Given the description of an element on the screen output the (x, y) to click on. 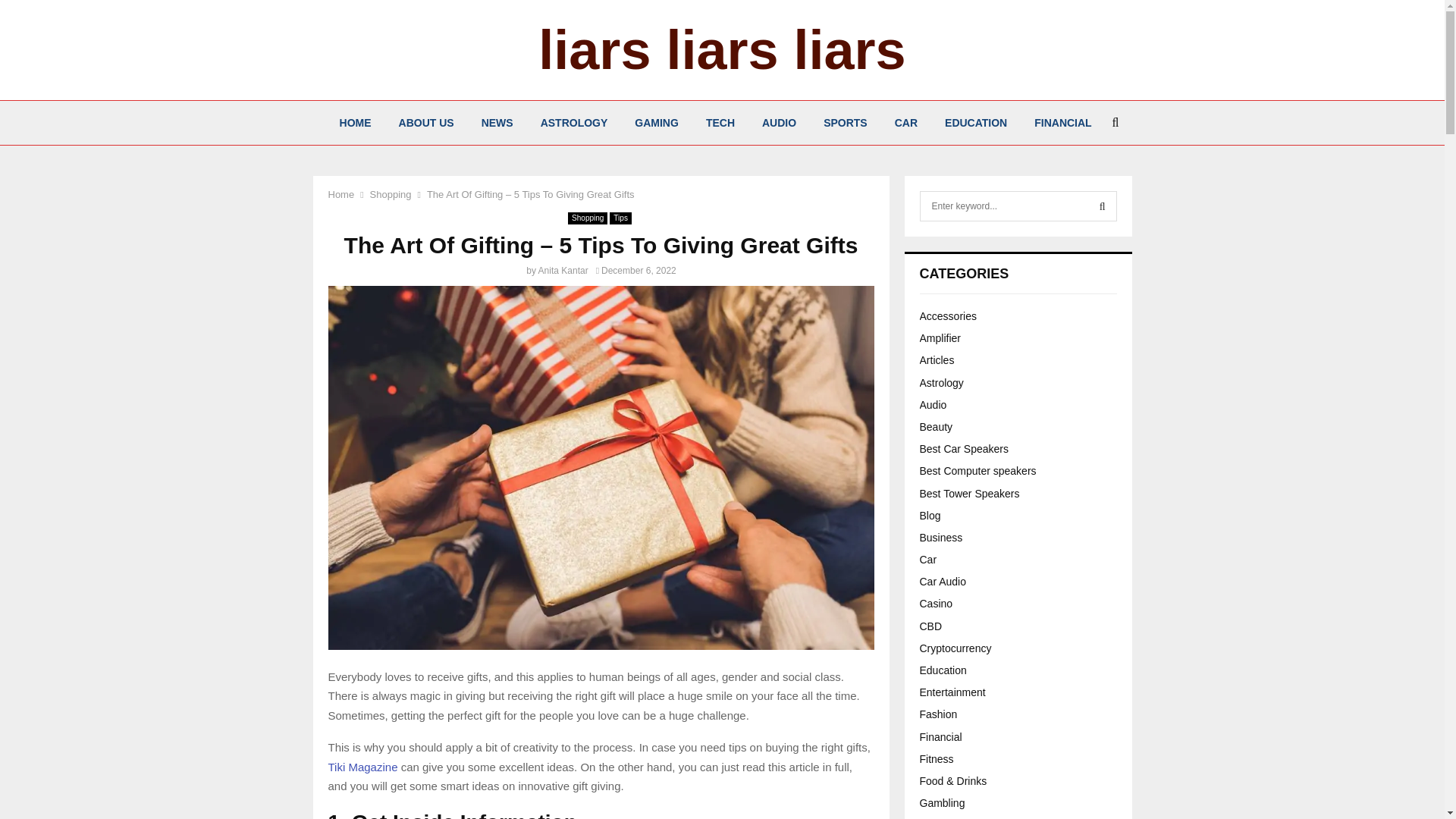
GAMING (657, 122)
CAR (905, 122)
Tips (620, 218)
Tiki Magazine (362, 766)
Shopping (587, 218)
HOME (355, 122)
FINANCIAL (1062, 122)
Home (340, 194)
TECH (720, 122)
NEWS (497, 122)
liars liars liars (721, 49)
EDUCATION (975, 122)
SPORTS (844, 122)
AUDIO (778, 122)
Shopping (390, 194)
